Given the description of an element on the screen output the (x, y) to click on. 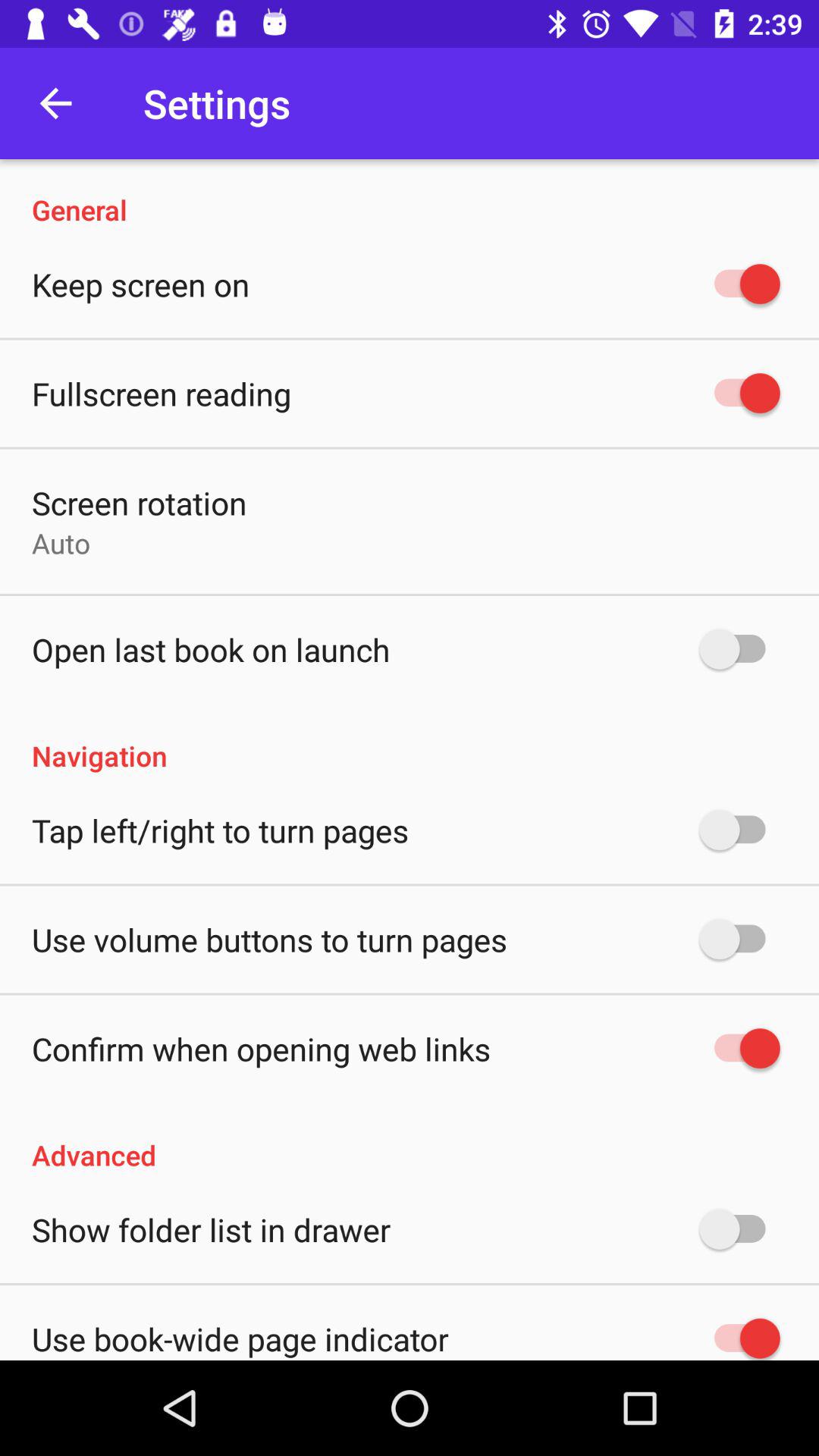
click the icon below the use volume buttons item (260, 1048)
